Given the description of an element on the screen output the (x, y) to click on. 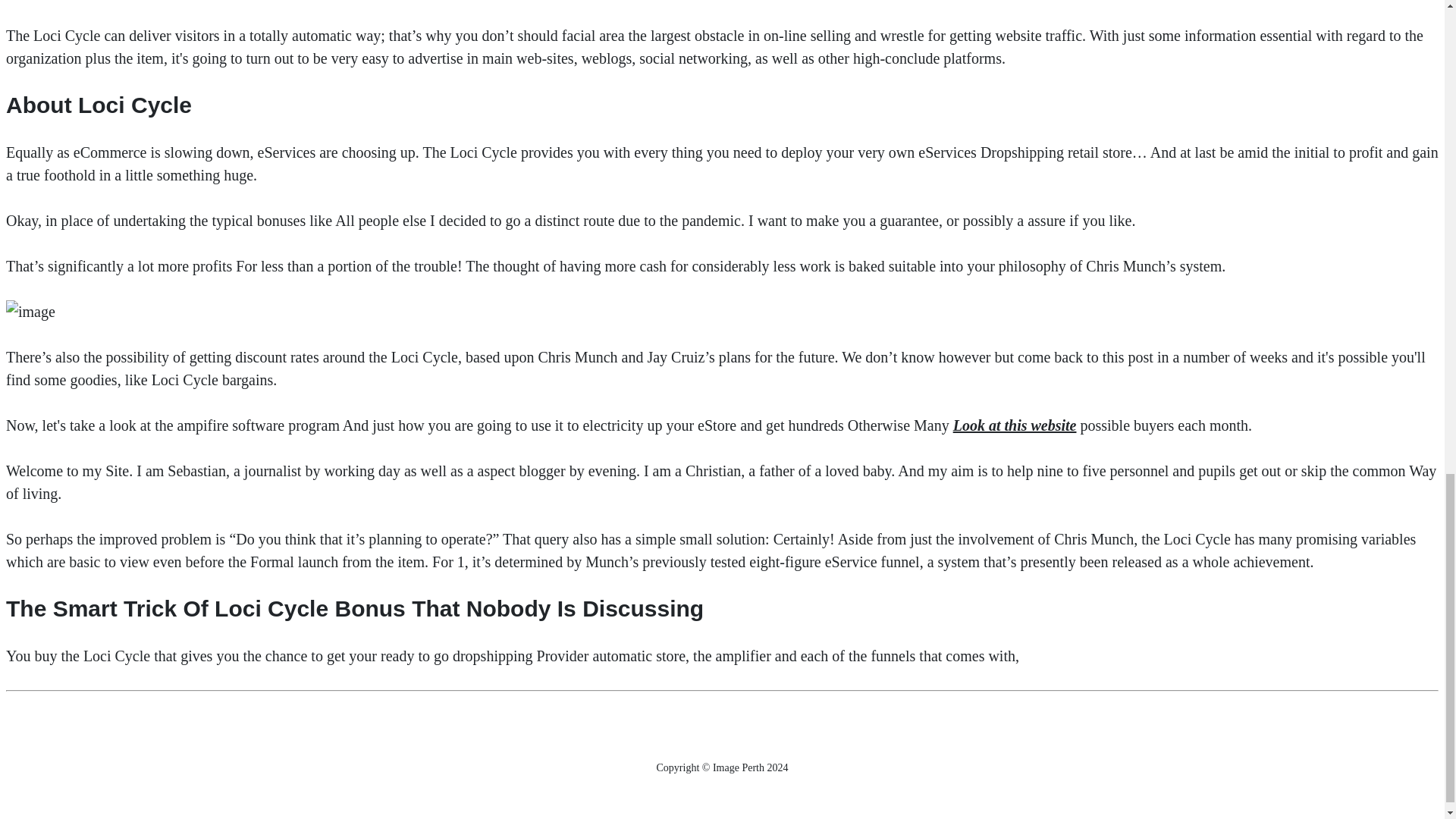
Look at this website (1015, 425)
